Given the description of an element on the screen output the (x, y) to click on. 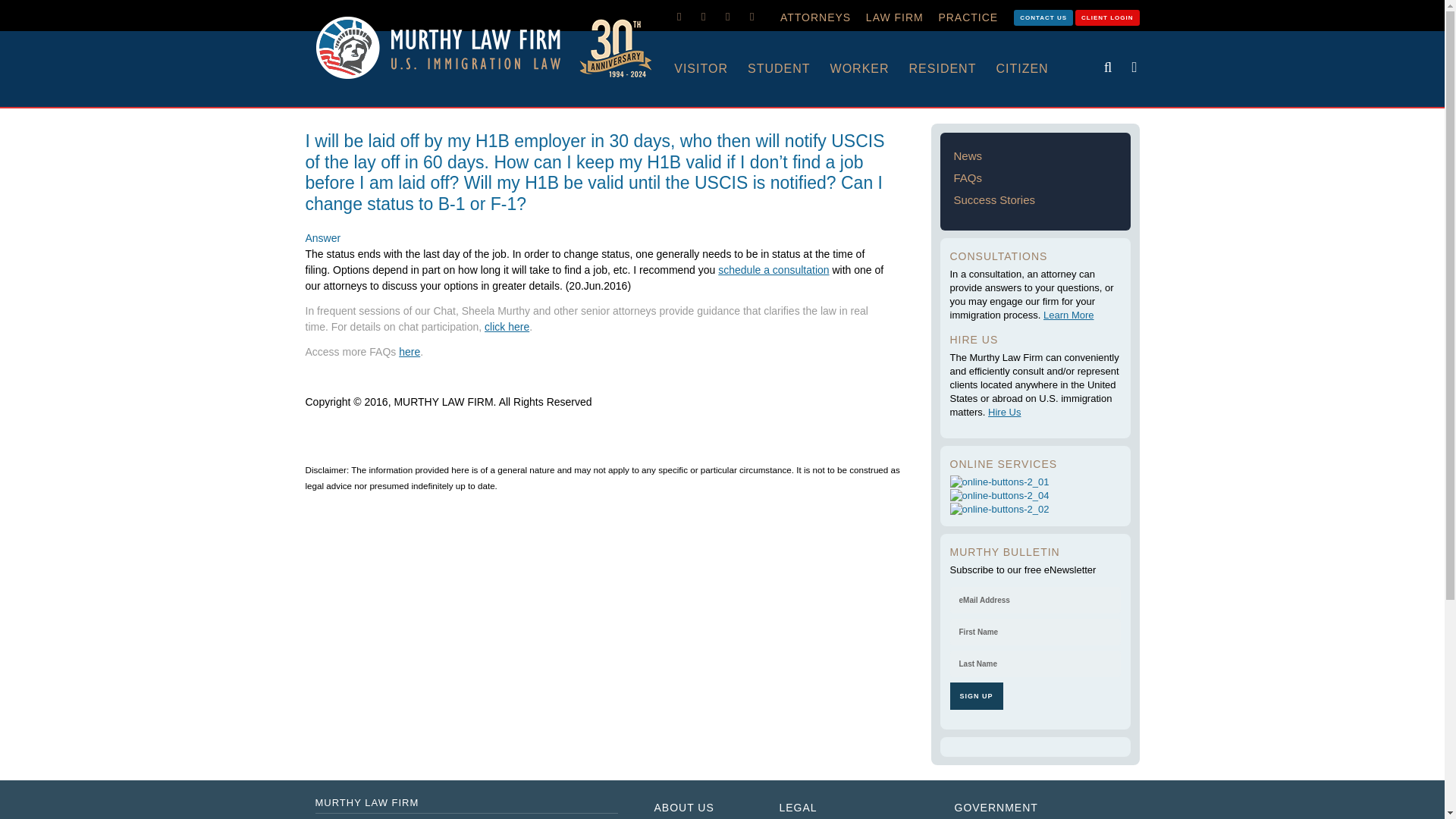
Sign up (976, 696)
VISITOR (711, 69)
PRACTICE (967, 17)
WORKER (868, 69)
RESIDENT (951, 69)
CONTACT US (1043, 17)
CLIENT LOGIN (1106, 17)
ATTORNEYS (815, 17)
LAW FIRM (895, 17)
STUDENT (788, 69)
